Given the description of an element on the screen output the (x, y) to click on. 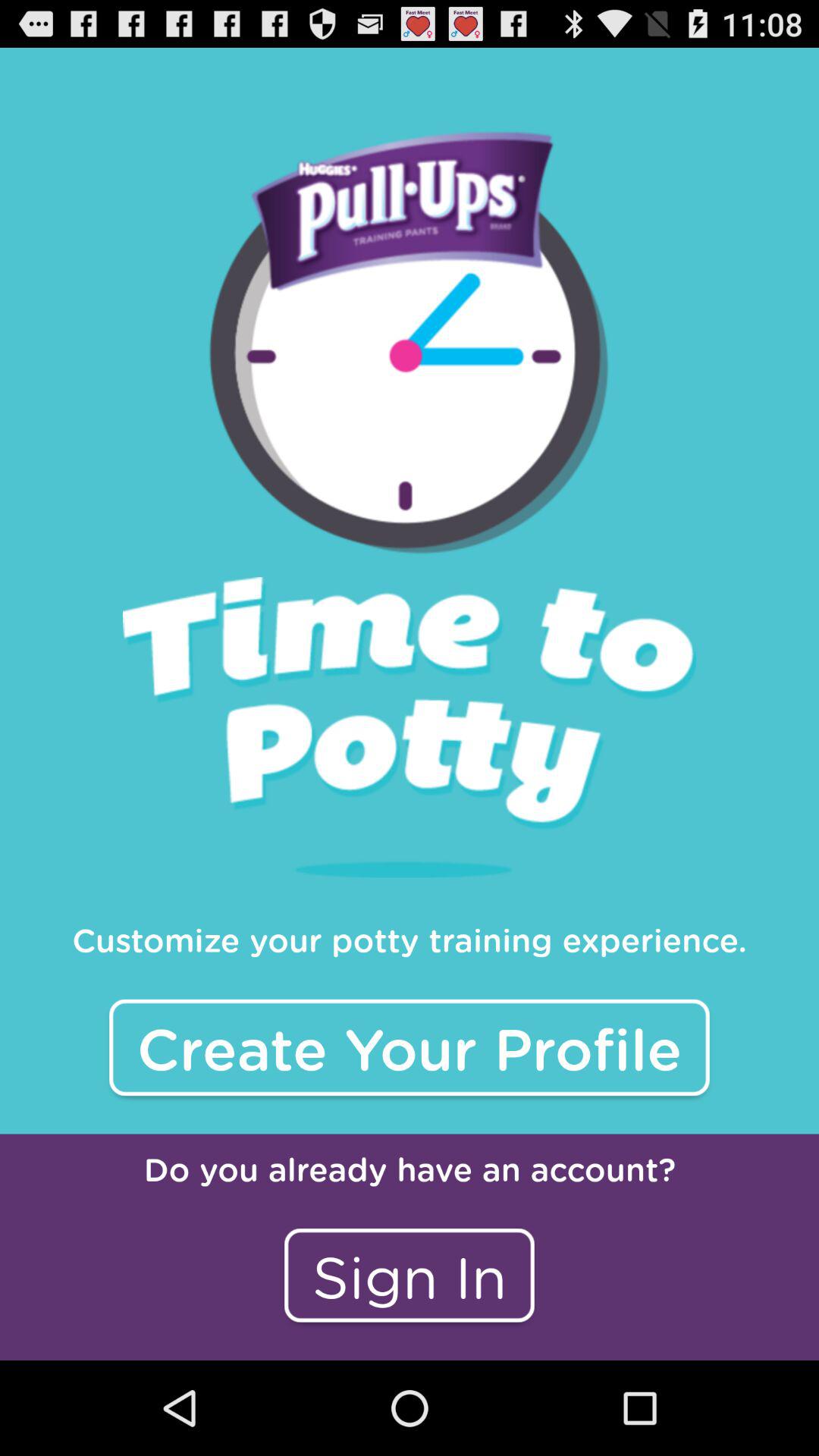
tap the app above the do you already app (409, 1047)
